Given the description of an element on the screen output the (x, y) to click on. 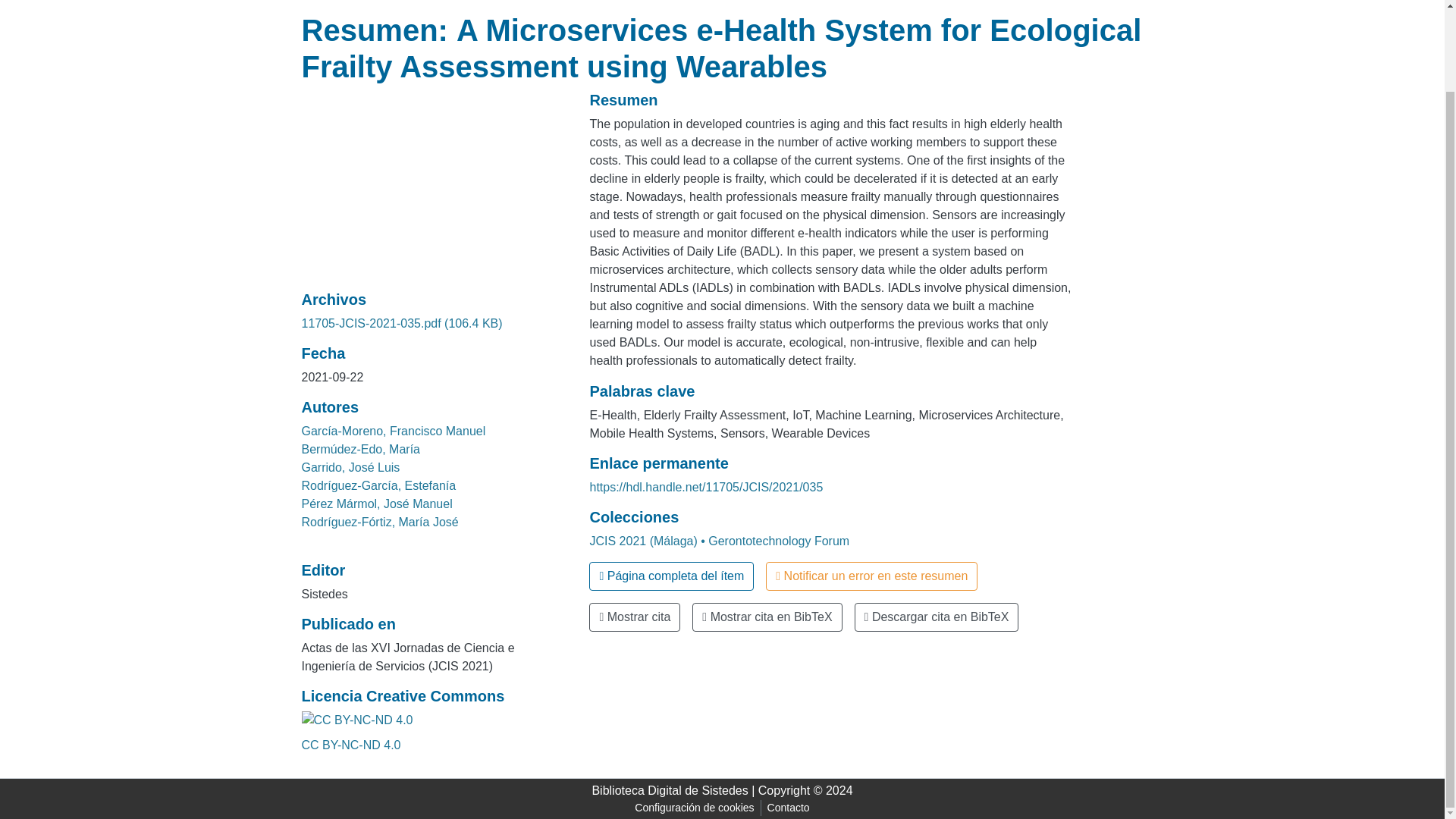
Descargar cita en BibTeX (936, 616)
CC BY-NC-ND 4.0 (351, 744)
Biblioteca Digital de Sistedes (669, 789)
Contacto (788, 807)
